Given the description of an element on the screen output the (x, y) to click on. 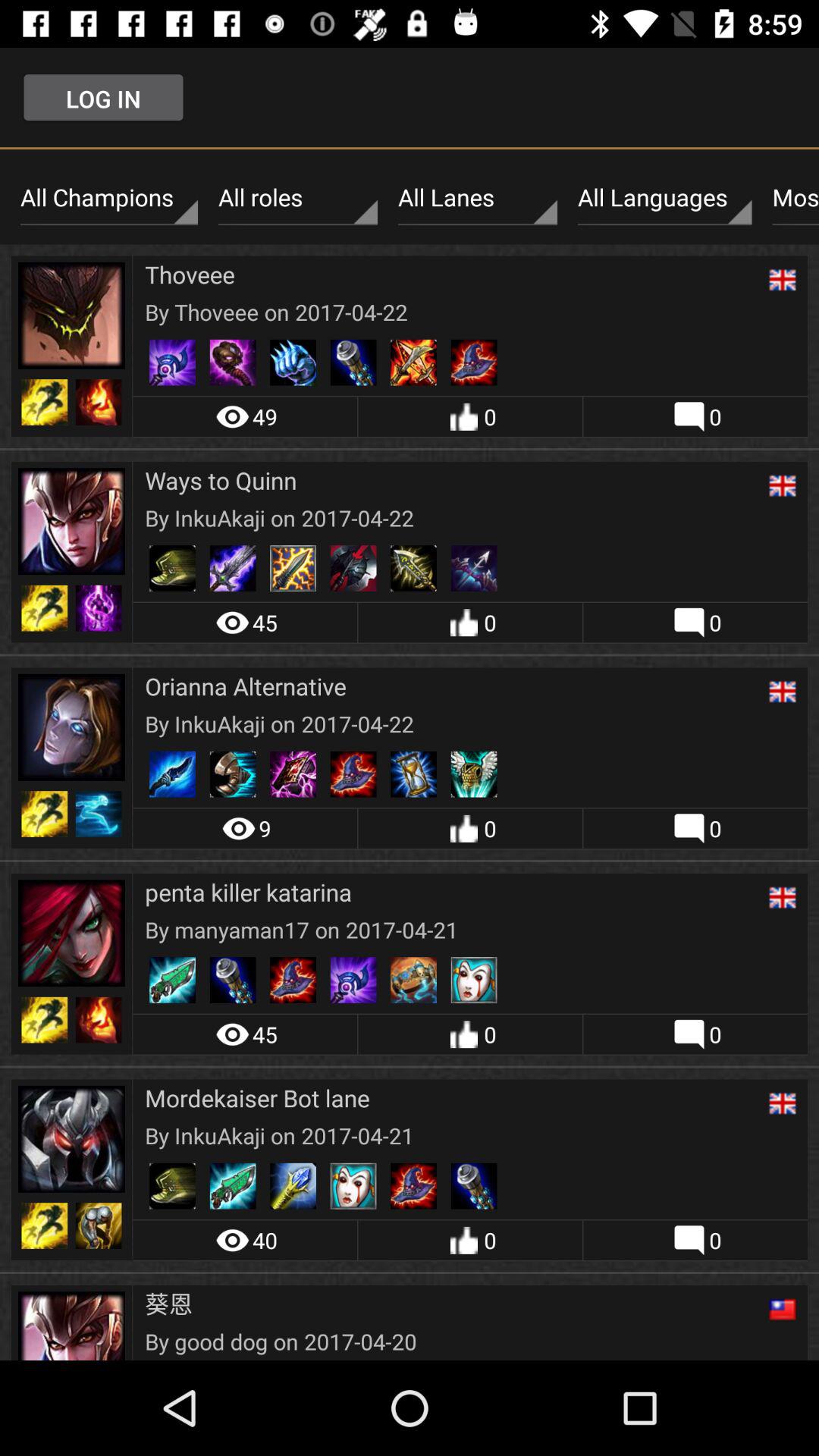
tap the icon above the thoveee item (297, 198)
